Given the description of an element on the screen output the (x, y) to click on. 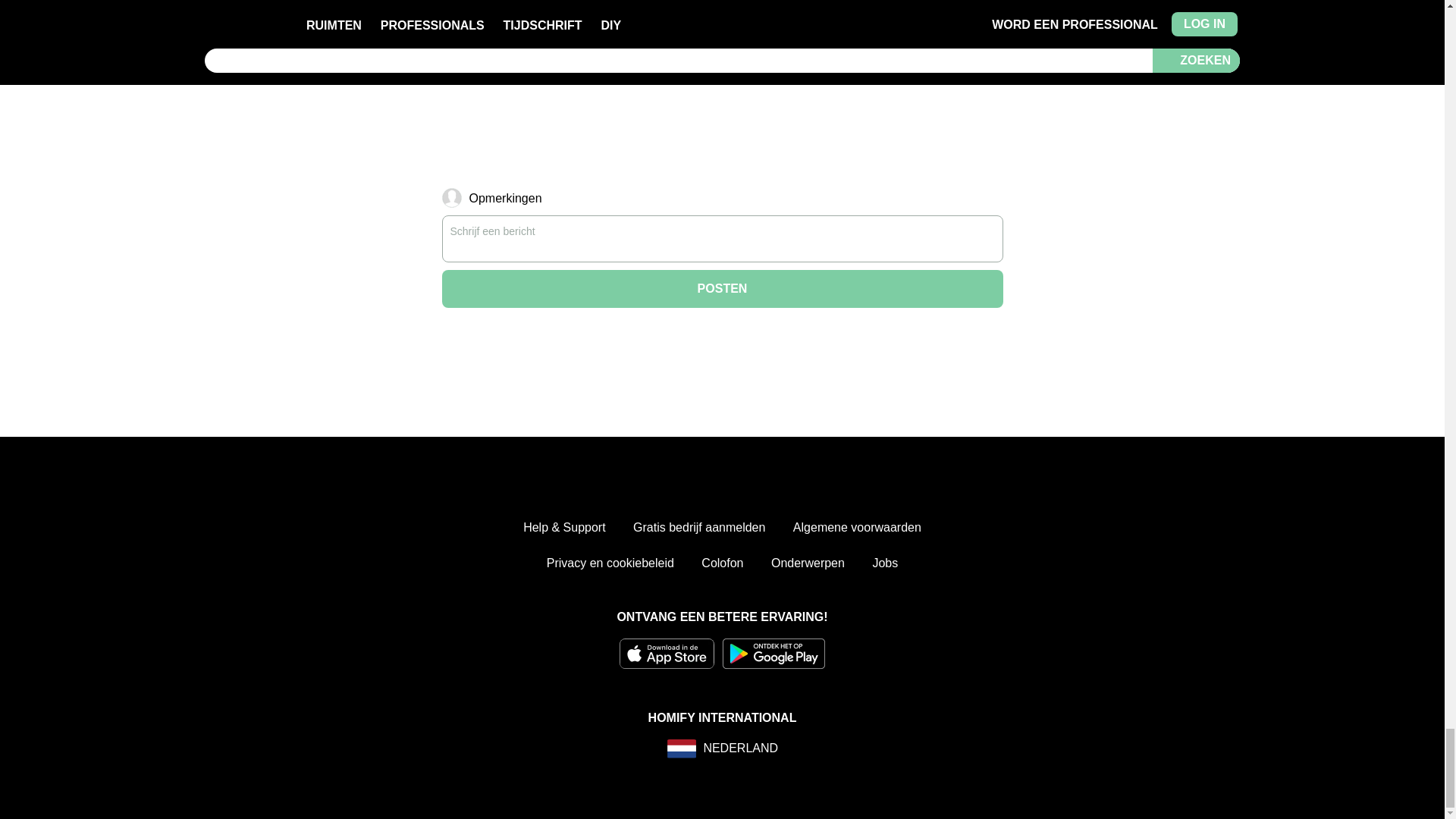
Algemene voorwaarden (857, 527)
Posten (722, 288)
Onderwerpen (807, 563)
Jobs (885, 563)
Colofon (721, 563)
Gratis bedrijf aanmelden (699, 527)
Privacy en cookiebeleid (610, 563)
Posten (722, 288)
